Given the description of an element on the screen output the (x, y) to click on. 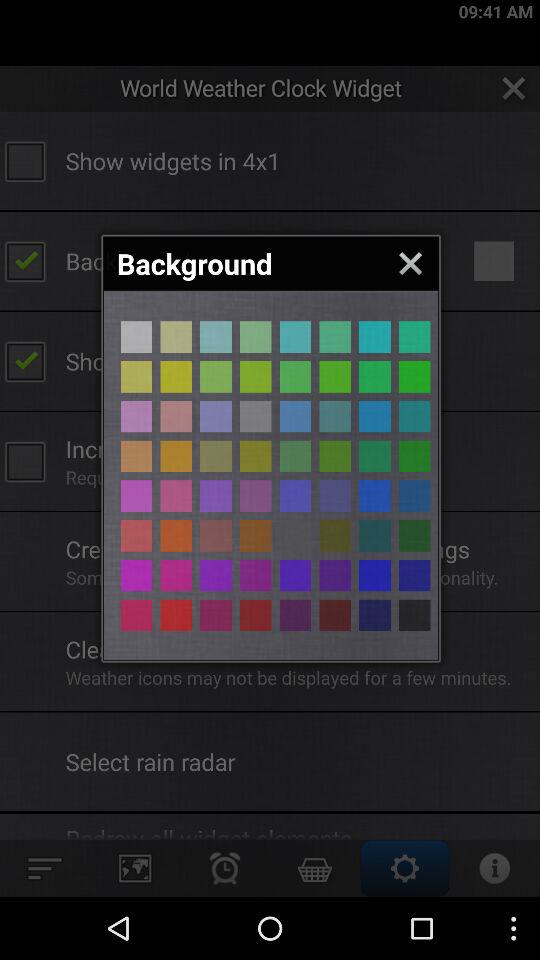
backround button (255, 376)
